Given the description of an element on the screen output the (x, y) to click on. 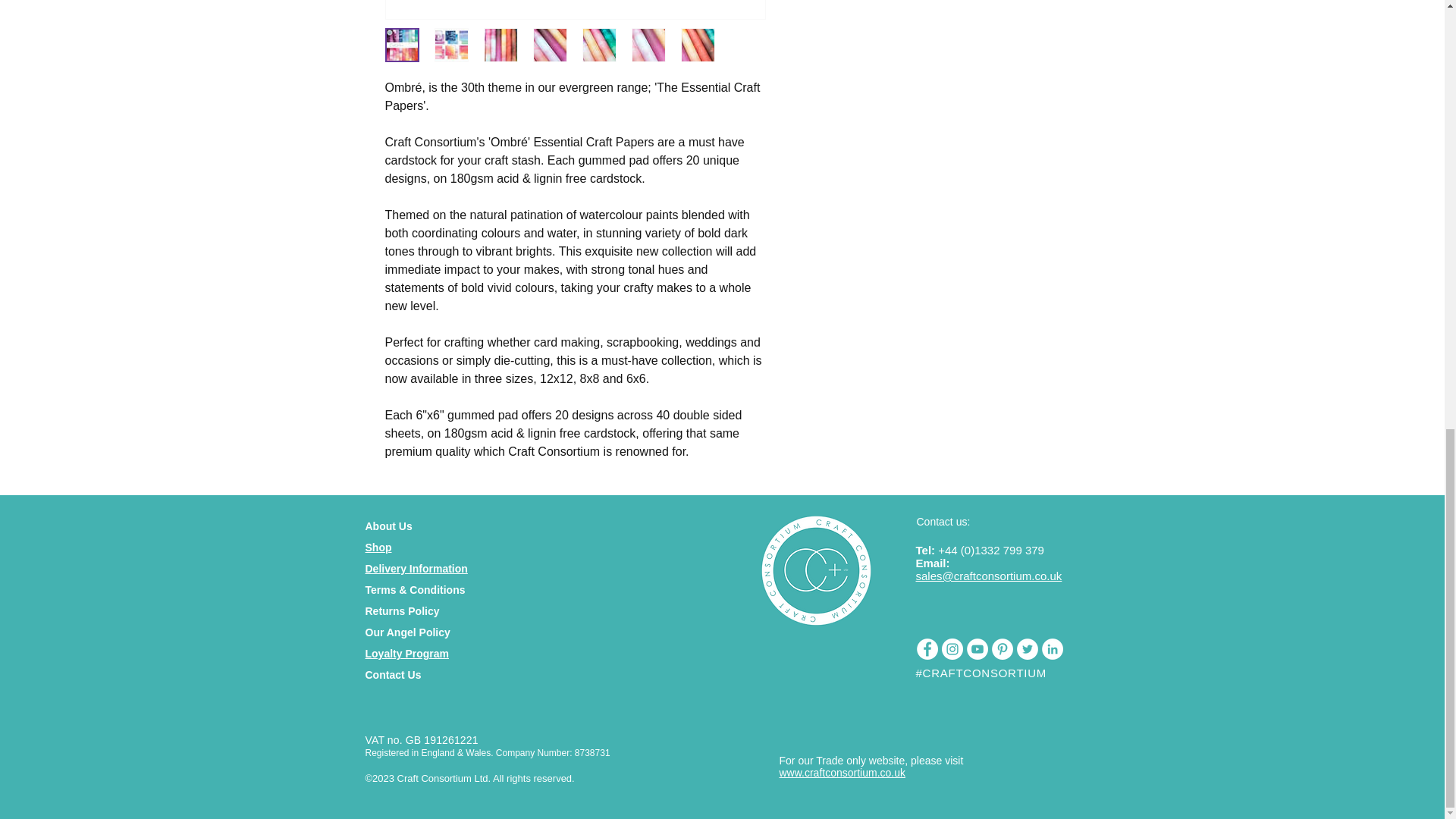
Contact (384, 674)
About Us (388, 526)
Loyalty Program (406, 653)
Returns Policy (402, 611)
Delivery Information (416, 568)
Our Angel Policy (407, 632)
Shop (378, 547)
